Given the description of an element on the screen output the (x, y) to click on. 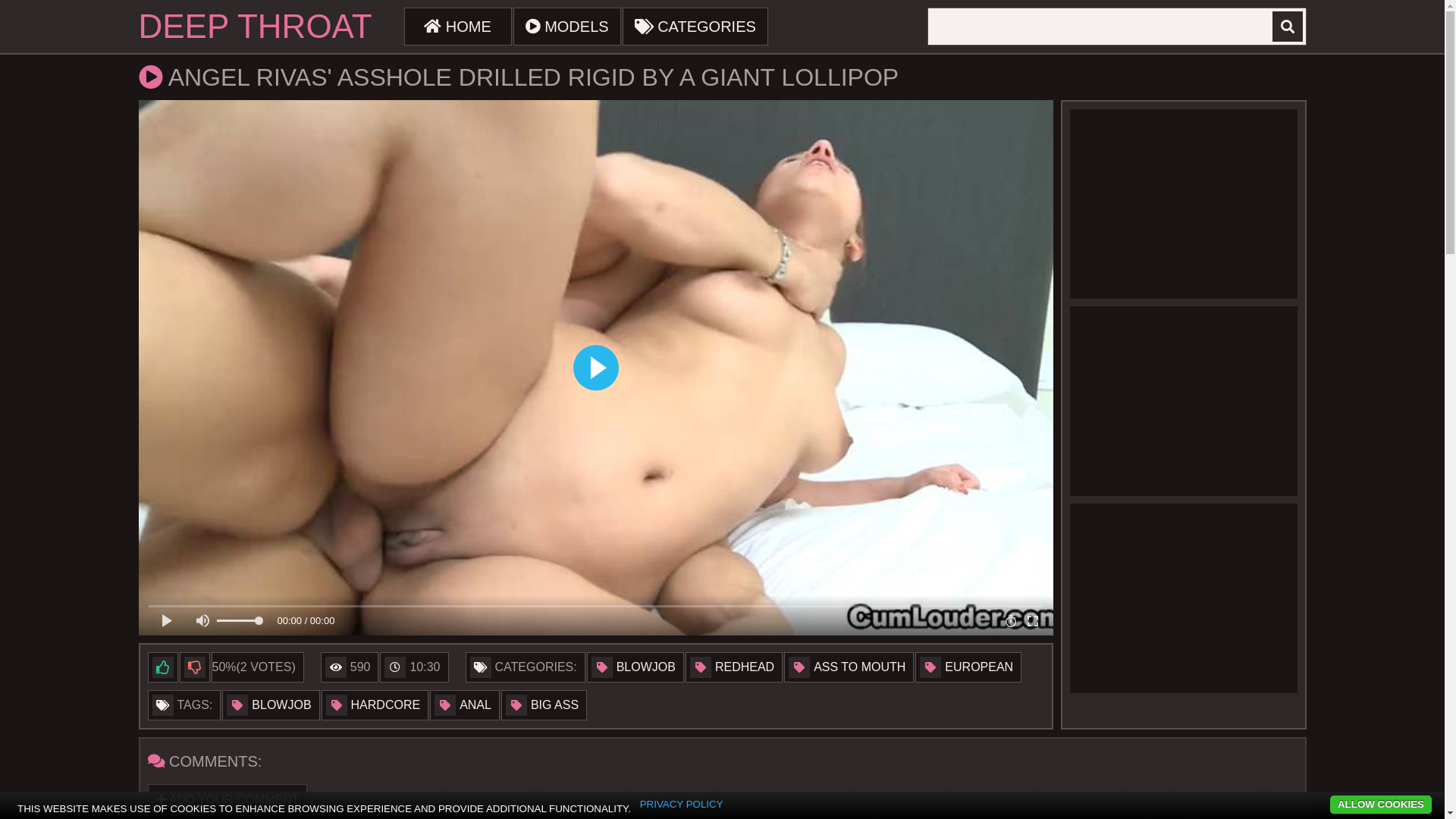
CATEGORIES Element type: text (695, 26)
Search Element type: hover (1287, 26)
BLOWJOB Element type: text (270, 705)
ASS TO MOUTH Element type: text (848, 667)
ALLOW COOKIES Element type: text (1380, 804)
BLOWJOB Element type: text (635, 667)
DEEP THROAT Element type: text (254, 26)
EUROPEAN Element type: text (968, 667)
REDHEAD Element type: text (733, 667)
BIG ASS Element type: text (543, 705)
HARDCORE Element type: text (375, 705)
ANAL Element type: text (464, 705)
Like! Element type: hover (162, 667)
MODELS Element type: text (567, 26)
HOME Element type: text (457, 26)
Dislike! Element type: hover (193, 667)
PRIVACY POLICY Element type: text (681, 804)
